Given the description of an element on the screen output the (x, y) to click on. 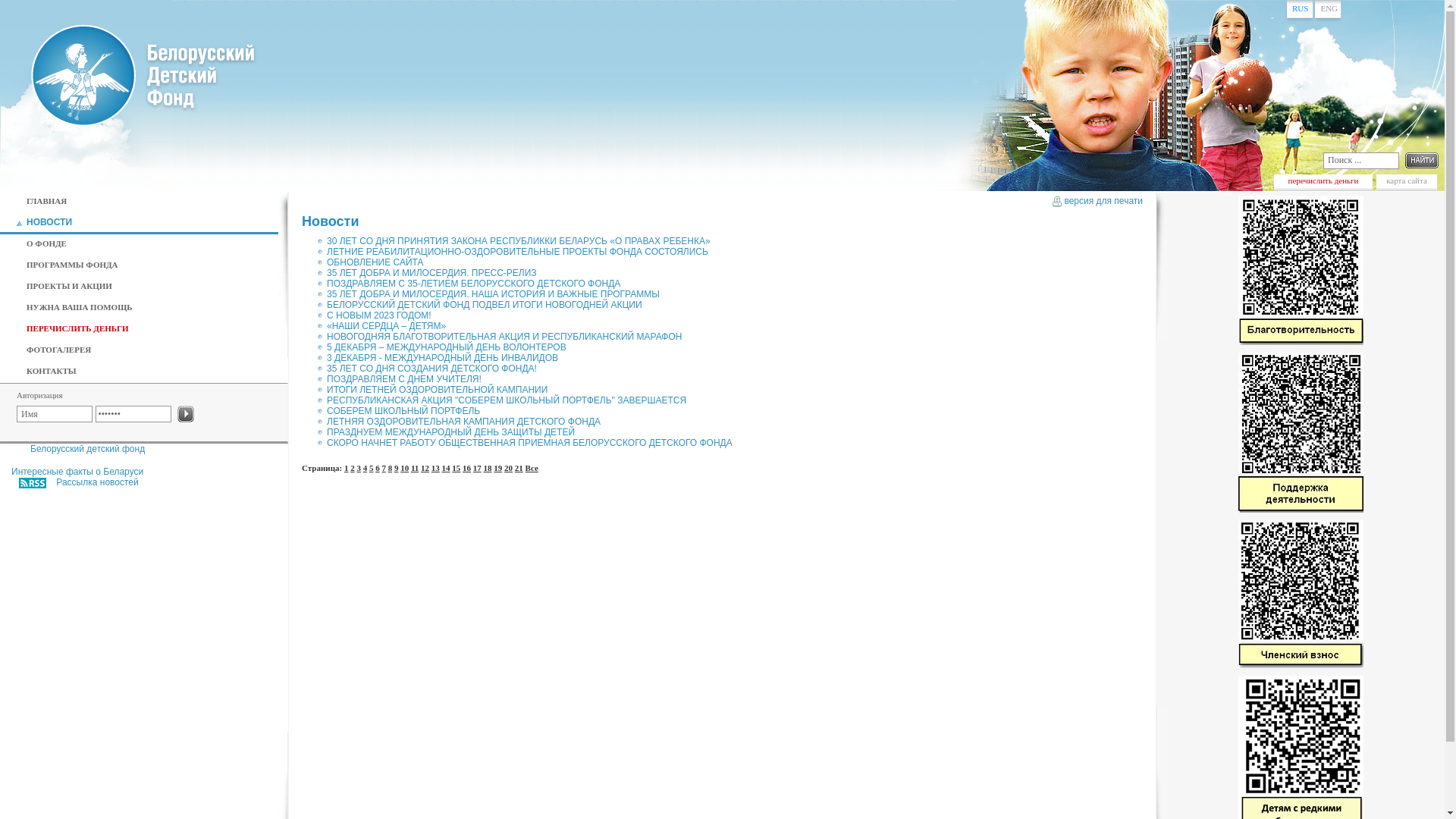
15 Element type: text (455, 463)
13 Element type: text (435, 463)
Support_Ops Element type: hover (1299, 513)
Support_Ops Element type: hover (1299, 432)
19 Element type: text (497, 463)
Membership Element type: hover (1299, 668)
1 Element type: text (346, 463)
2 Element type: text (352, 463)
ENG Element type: text (1328, 7)
5 Element type: text (371, 463)
Blagotvoritelnost Element type: hover (1299, 270)
Membership Element type: hover (1299, 594)
17 Element type: text (477, 463)
9 Element type: text (396, 463)
16 Element type: text (466, 463)
20 Element type: text (508, 463)
18 Element type: text (487, 463)
11 Element type: text (414, 463)
14 Element type: text (446, 463)
8 Element type: text (390, 463)
4 Element type: text (365, 463)
12 Element type: text (424, 463)
21 Element type: text (518, 463)
Blagotvoritelnost Element type: hover (1299, 345)
3 Element type: text (358, 463)
7 Element type: text (383, 463)
6 Element type: text (377, 463)
10 Element type: text (404, 463)
